Given the description of an element on the screen output the (x, y) to click on. 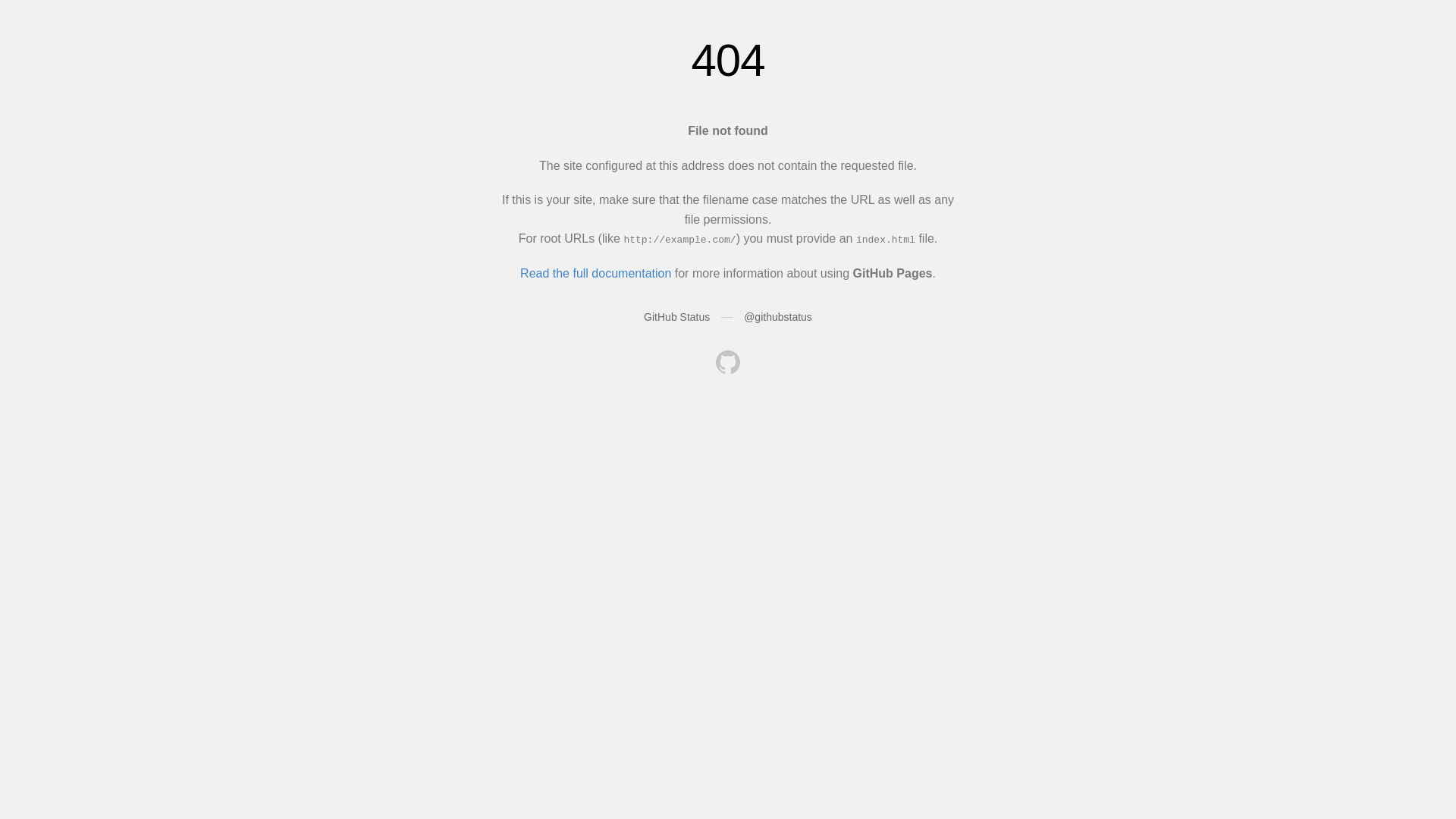
@githubstatus Element type: text (777, 316)
Read the full documentation Element type: text (595, 272)
GitHub Status Element type: text (676, 316)
